Given the description of an element on the screen output the (x, y) to click on. 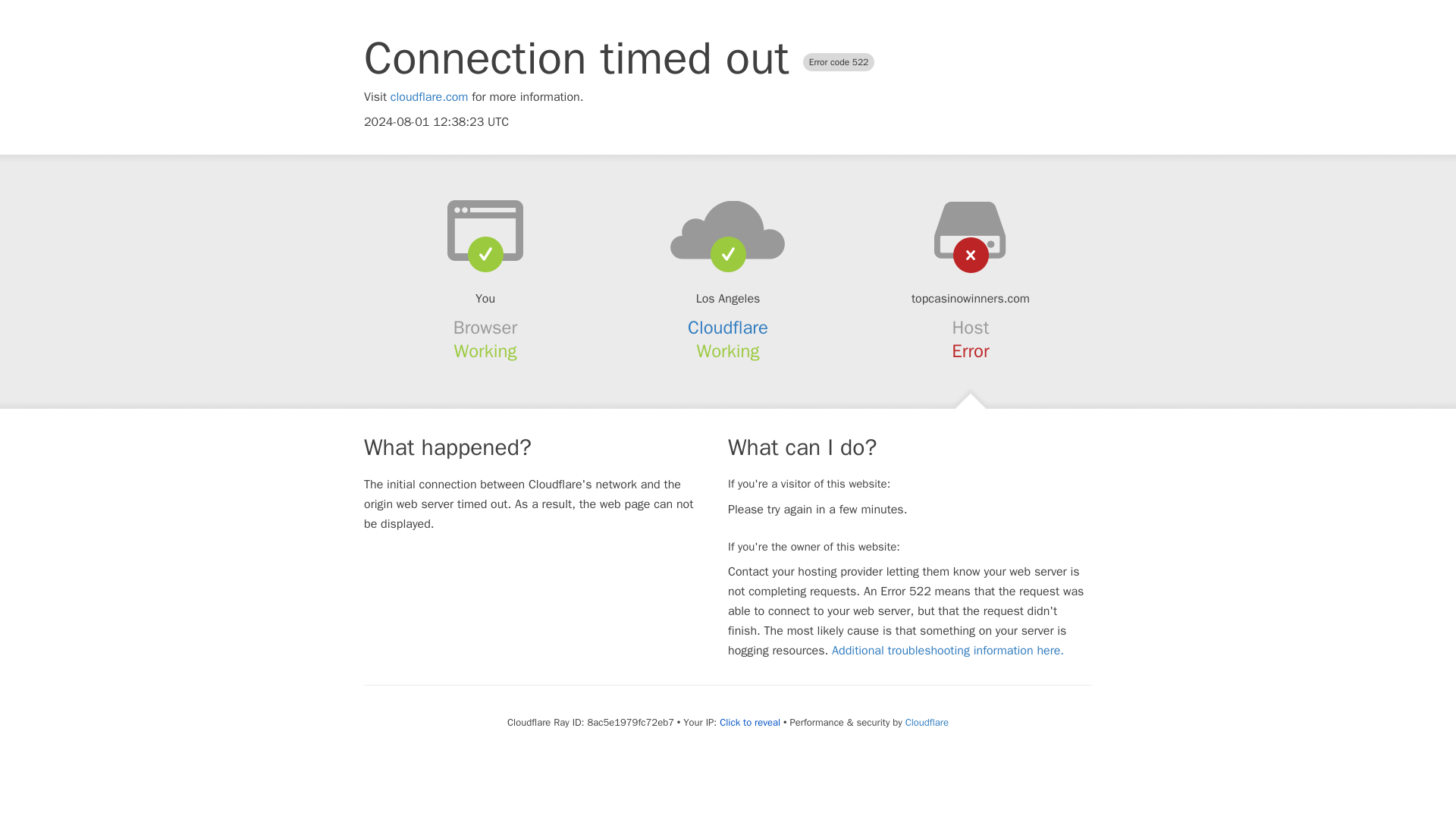
Additional troubleshooting information here. (947, 650)
Cloudflare (727, 327)
Click to reveal (749, 722)
cloudflare.com (429, 96)
Cloudflare (927, 721)
